Given the description of an element on the screen output the (x, y) to click on. 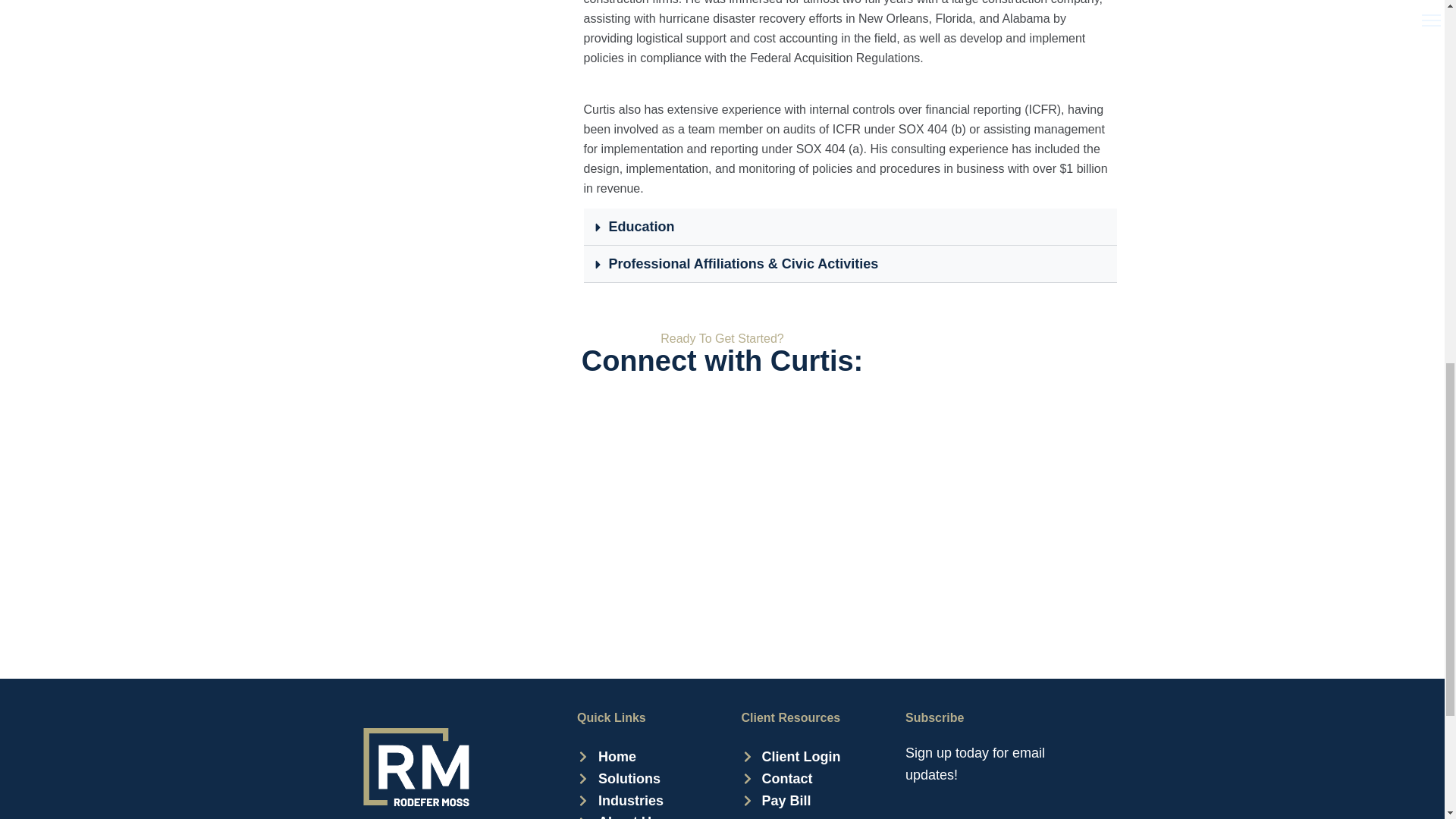
About Us (619, 815)
Contact (791, 779)
Client Login (791, 757)
Solutions (619, 779)
Education (641, 226)
Industries (619, 801)
Pay Bill (791, 801)
Home (619, 757)
